Given the description of an element on the screen output the (x, y) to click on. 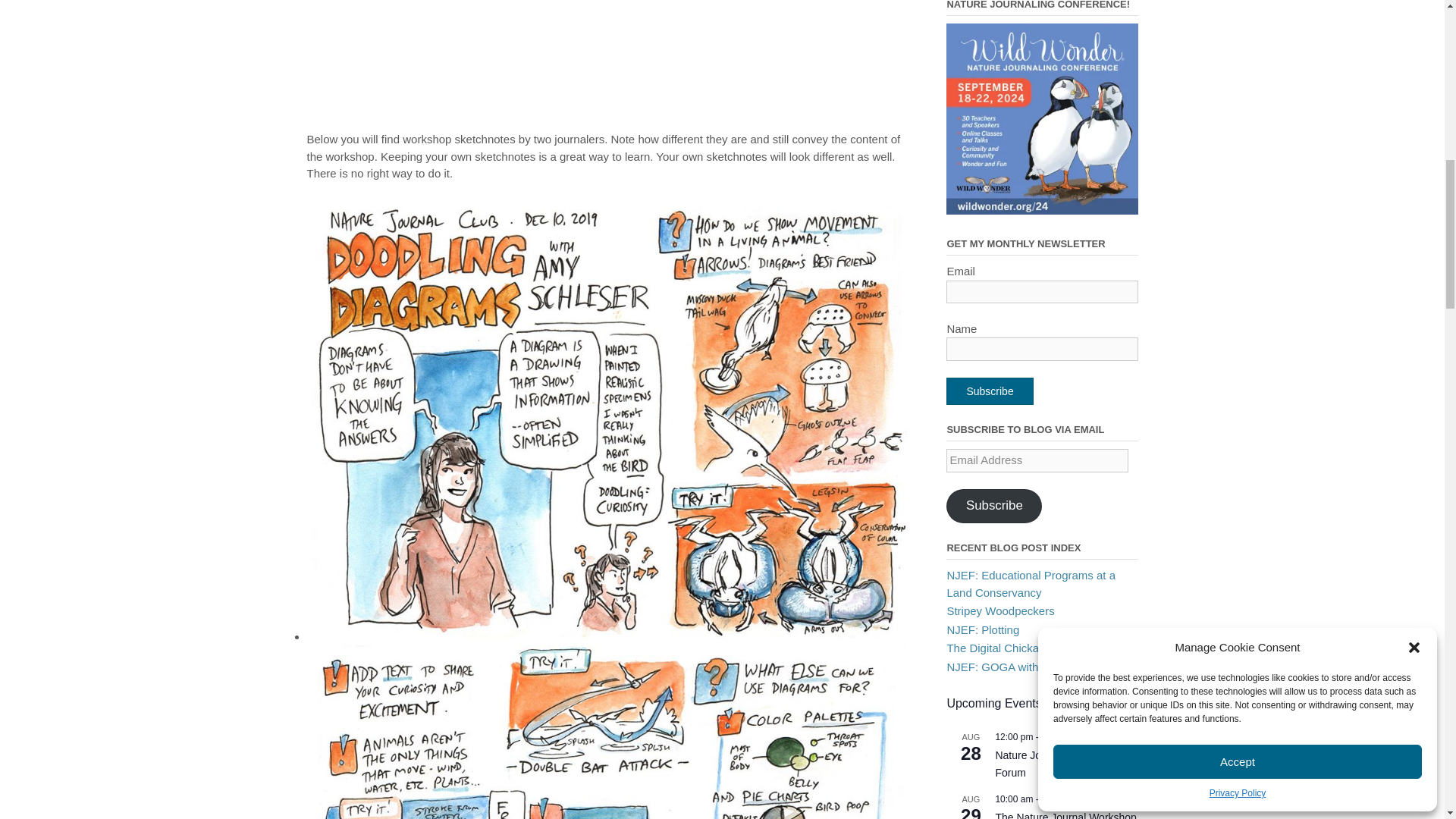
Event Series (1104, 735)
Subscribe (989, 390)
